Given the description of an element on the screen output the (x, y) to click on. 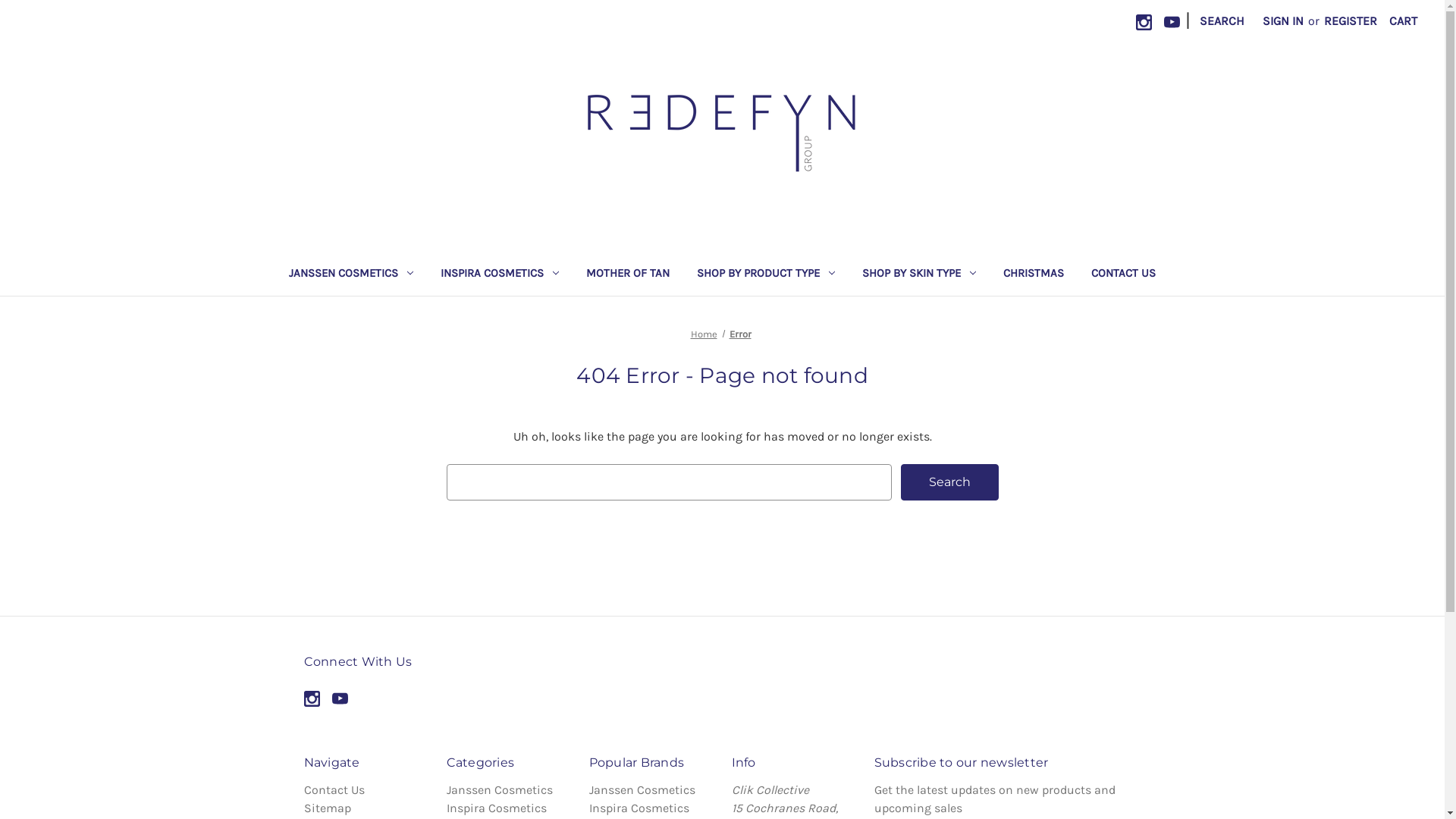
Inspira Cosmetics Element type: text (638, 807)
Redefyn Group Retail Element type: hover (721, 134)
CART Element type: text (1403, 21)
CONTACT US Element type: text (1123, 275)
Inspira Cosmetics Element type: text (495, 807)
Janssen Cosmetics Element type: text (498, 789)
INSPIRA COSMETICS Element type: text (499, 275)
Contact Us Element type: text (333, 789)
Home Element type: text (703, 332)
SHOP BY PRODUCT TYPE Element type: text (765, 275)
MOTHER OF TAN Element type: text (627, 275)
Error Element type: text (740, 332)
CHRISTMAS Element type: text (1033, 275)
SEARCH Element type: text (1221, 21)
Janssen Cosmetics Element type: text (641, 789)
REGISTER Element type: text (1350, 21)
SIGN IN Element type: text (1282, 21)
JANSSEN COSMETICS Element type: text (350, 275)
Search Element type: text (949, 482)
SHOP BY SKIN TYPE Element type: text (918, 275)
Sitemap Element type: text (326, 807)
